Given the description of an element on the screen output the (x, y) to click on. 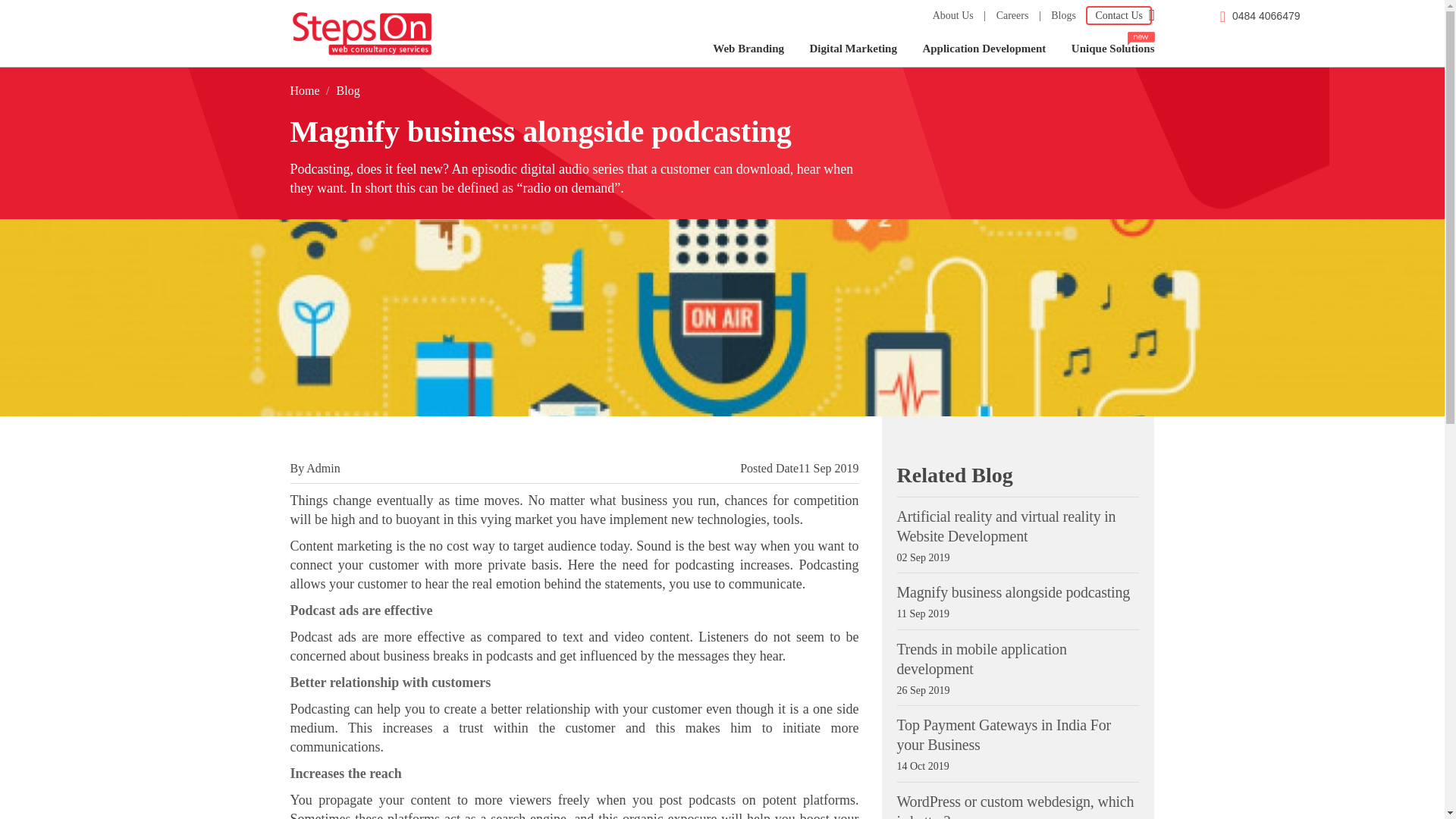
Home (303, 90)
Magnify business alongside podcasting (1012, 591)
Digital Marketing (852, 48)
Application Development (984, 48)
Contact Us (1118, 15)
Top Payment Gateways in India For your Business (1003, 734)
Careers (1012, 15)
Unique Solutions (1106, 48)
WordPress or custom webdesign, which is better? (1015, 806)
Trends in mobile application development (980, 658)
Web Branding (747, 48)
Blogs (1063, 15)
About Us (953, 15)
